Given the description of an element on the screen output the (x, y) to click on. 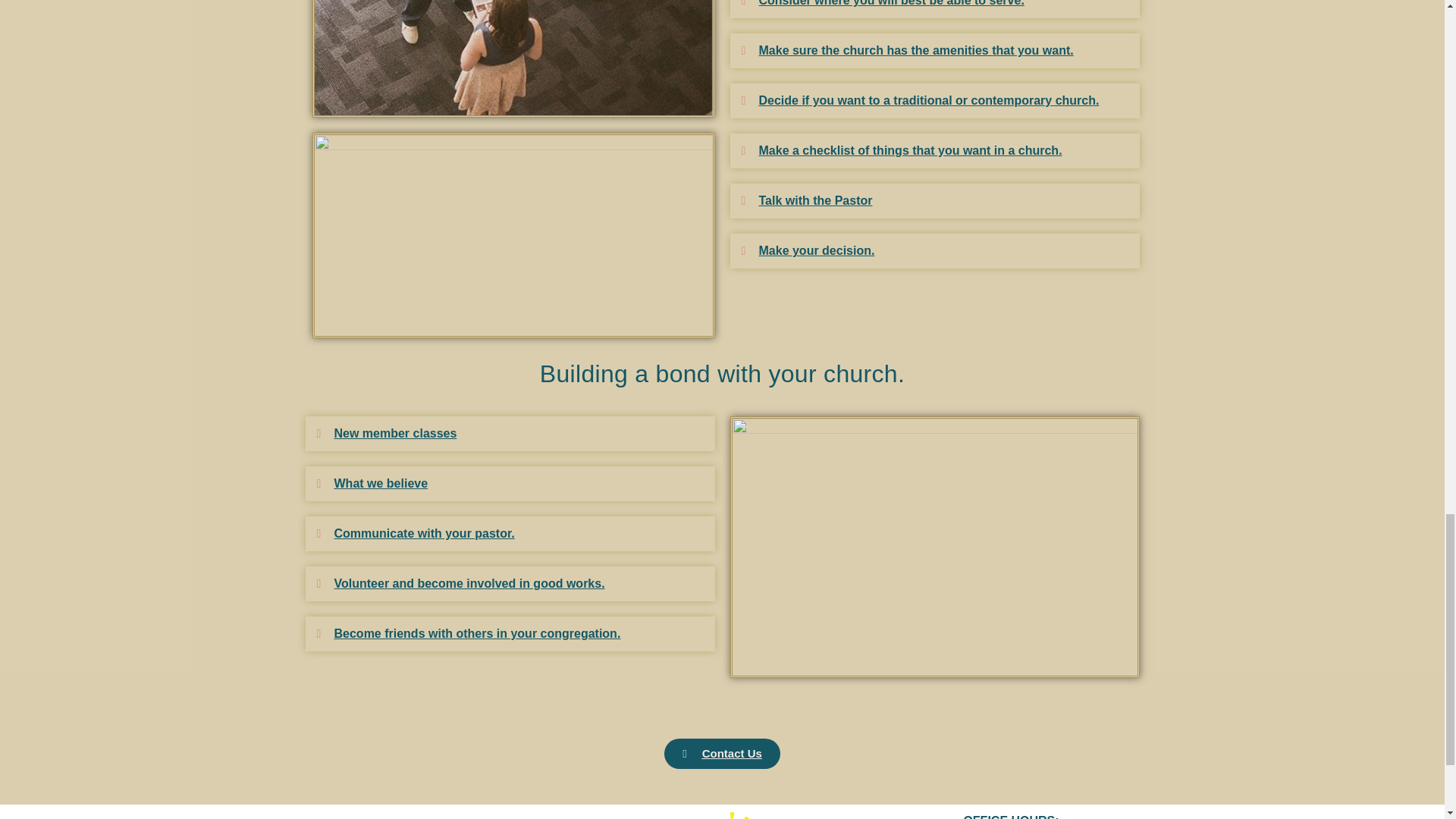
Make sure the church has the amenities that you want. (915, 50)
Talk with the Pastor (815, 200)
Make a checklist of things that you want in a church. (909, 150)
Consider where you will best be able to serve. (890, 3)
Decide if you want to a traditional or contemporary church. (928, 100)
